Given the description of an element on the screen output the (x, y) to click on. 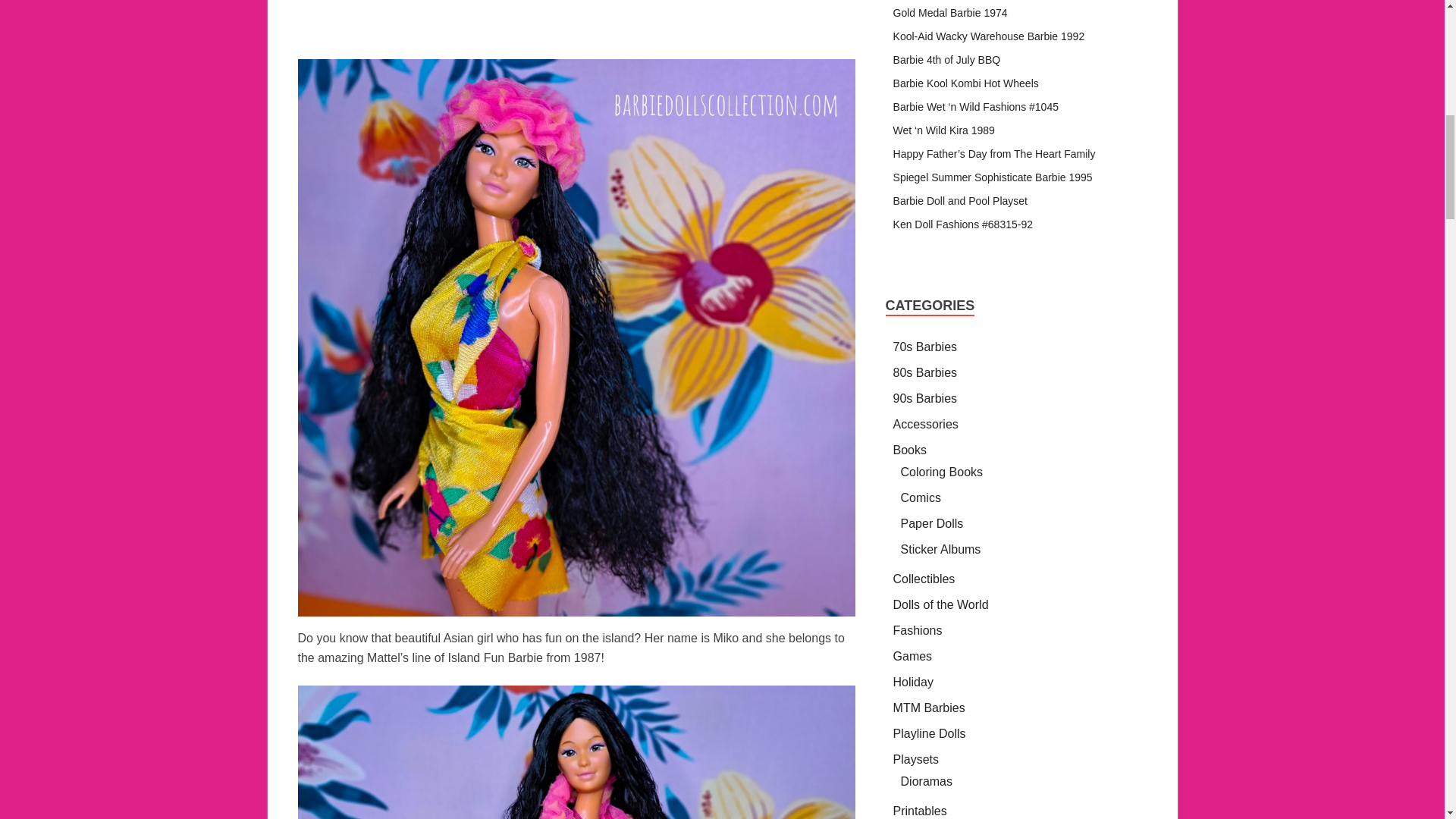
Advertisement (575, 29)
